Given the description of an element on the screen output the (x, y) to click on. 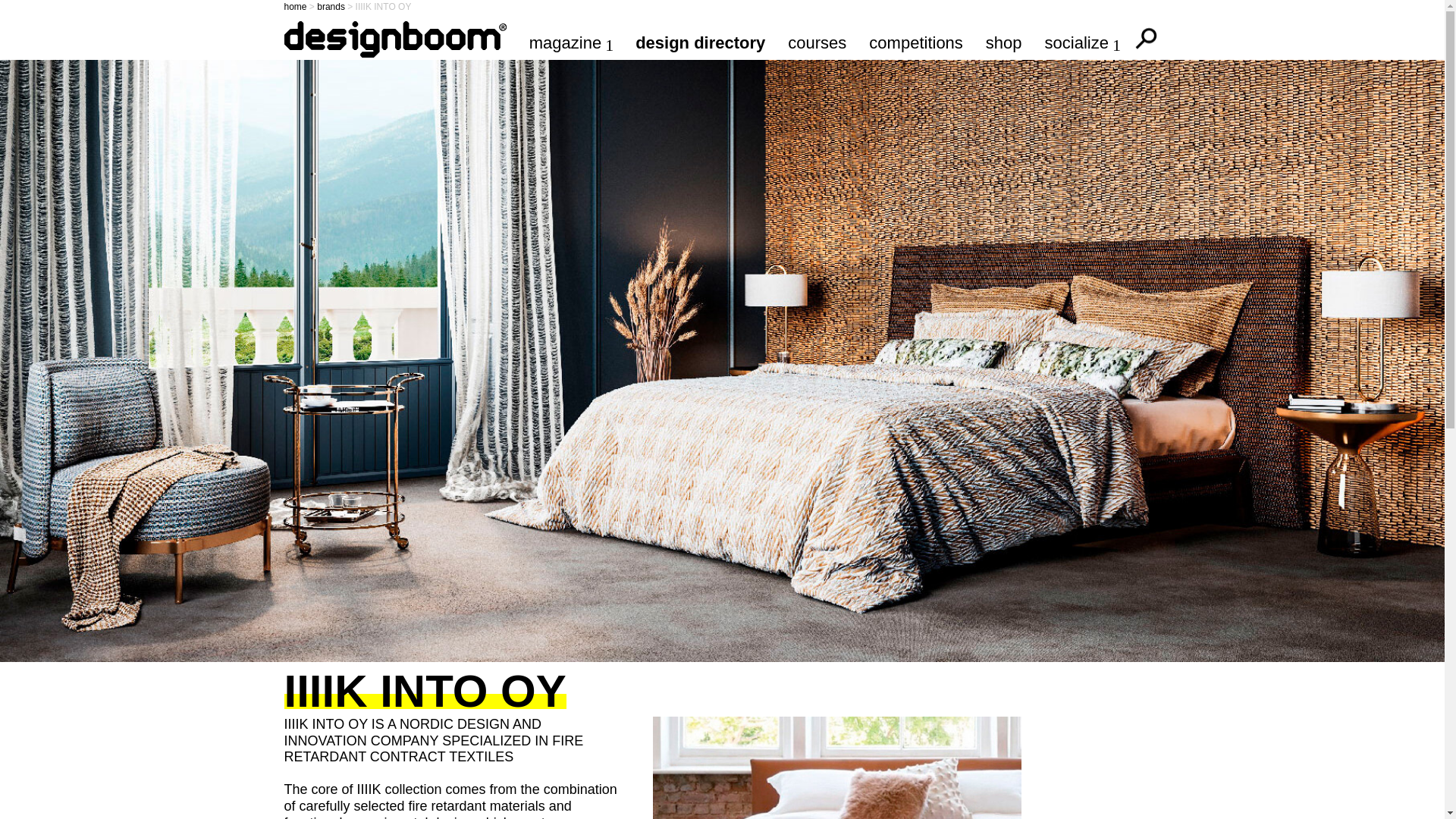
socialize (1082, 42)
design directory (699, 42)
shop (1003, 42)
magazine (570, 42)
socialize (1082, 42)
shop (1003, 42)
magazine (570, 42)
design directory (699, 42)
home (294, 6)
competitions (915, 42)
